Given the description of an element on the screen output the (x, y) to click on. 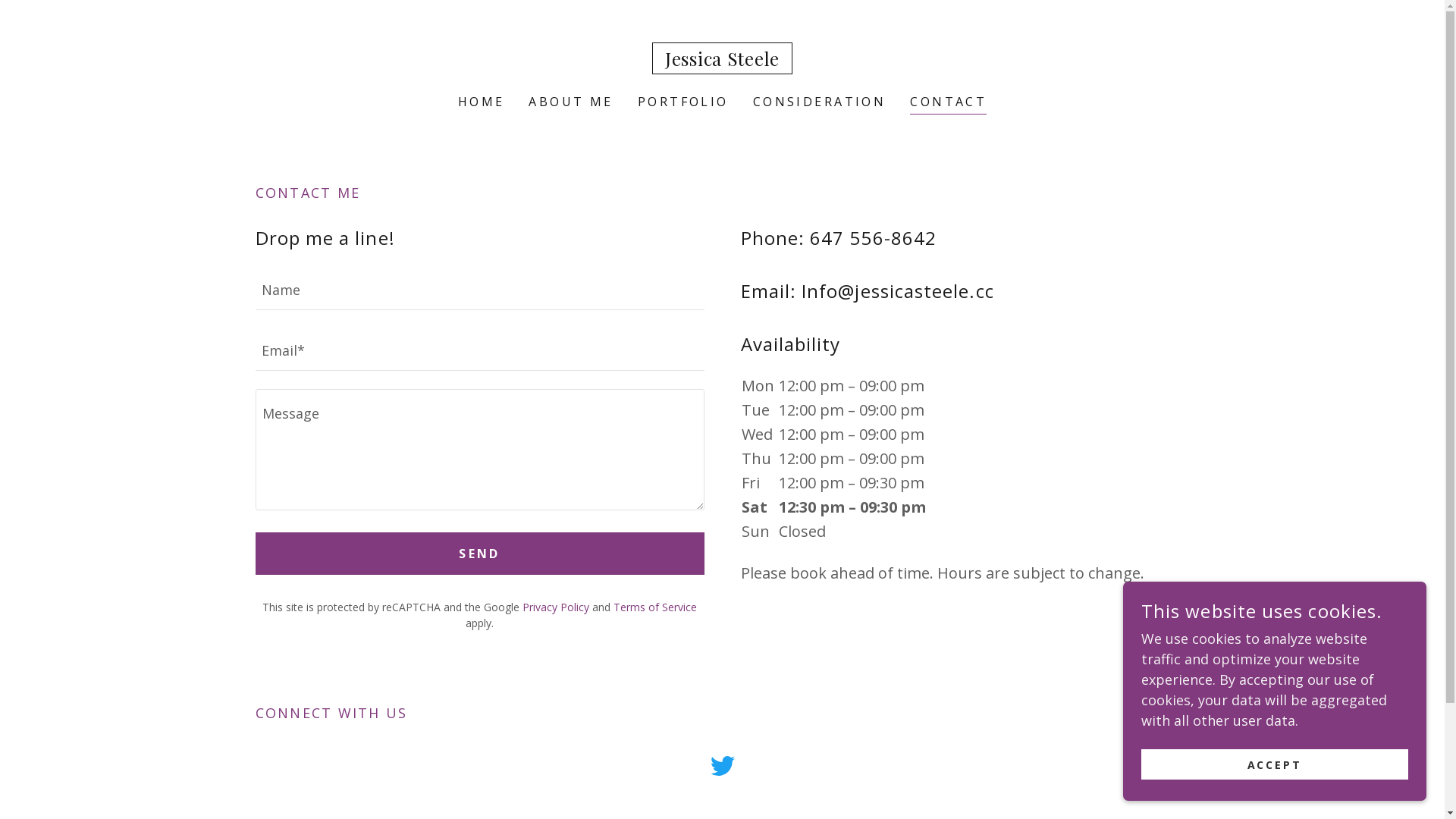
Terms of Service Element type: text (654, 606)
ABOUT ME Element type: text (570, 101)
PORTFOLIO Element type: text (683, 101)
CONTACT Element type: text (948, 103)
ACCEPT Element type: text (1274, 764)
SEND Element type: text (478, 553)
Privacy Policy Element type: text (555, 606)
HOME Element type: text (481, 101)
Jessica Steele Element type: text (722, 60)
CONSIDERATION Element type: text (819, 101)
